Given the description of an element on the screen output the (x, y) to click on. 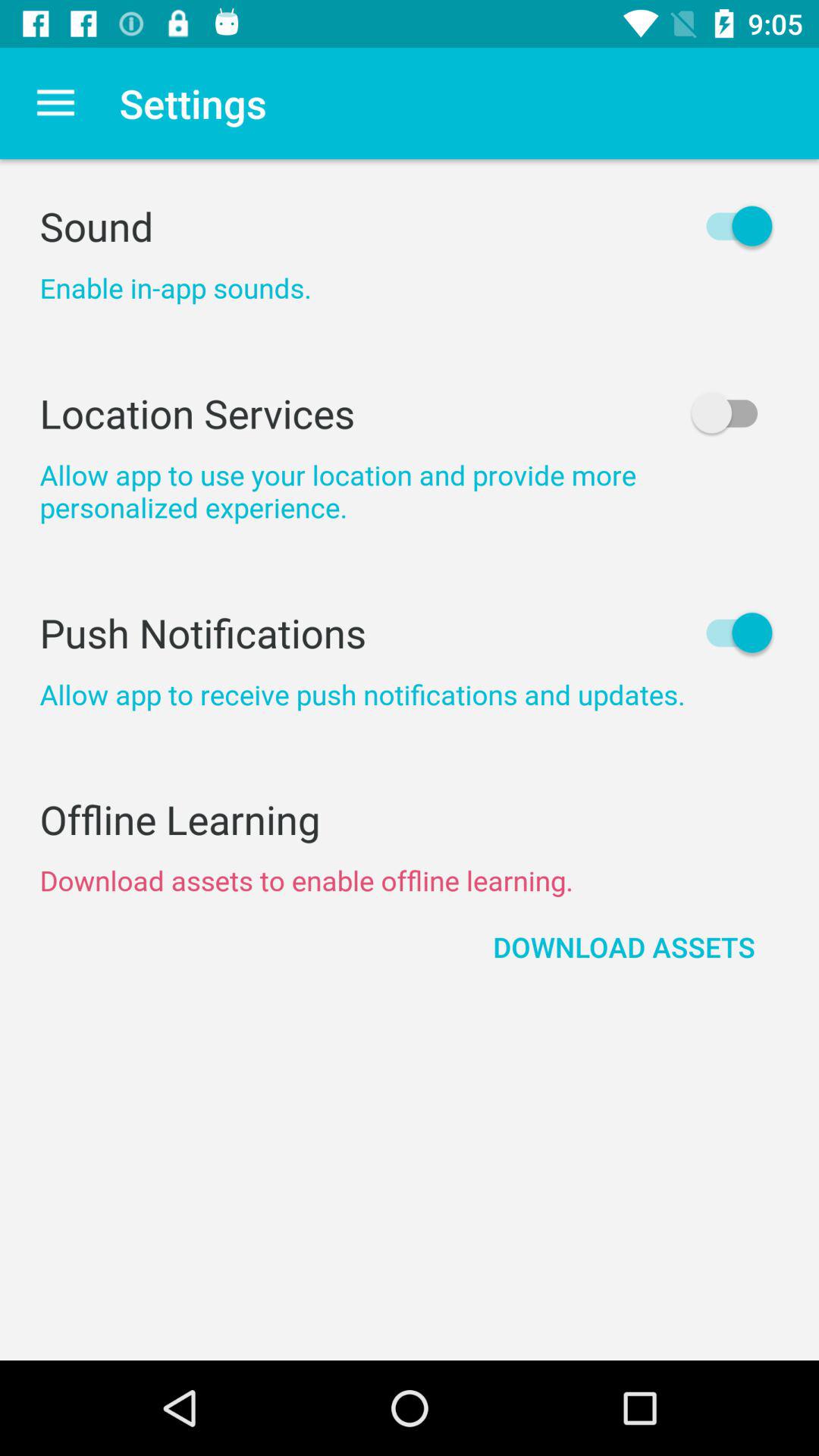
select icon to the left of the settings (55, 103)
